Given the description of an element on the screen output the (x, y) to click on. 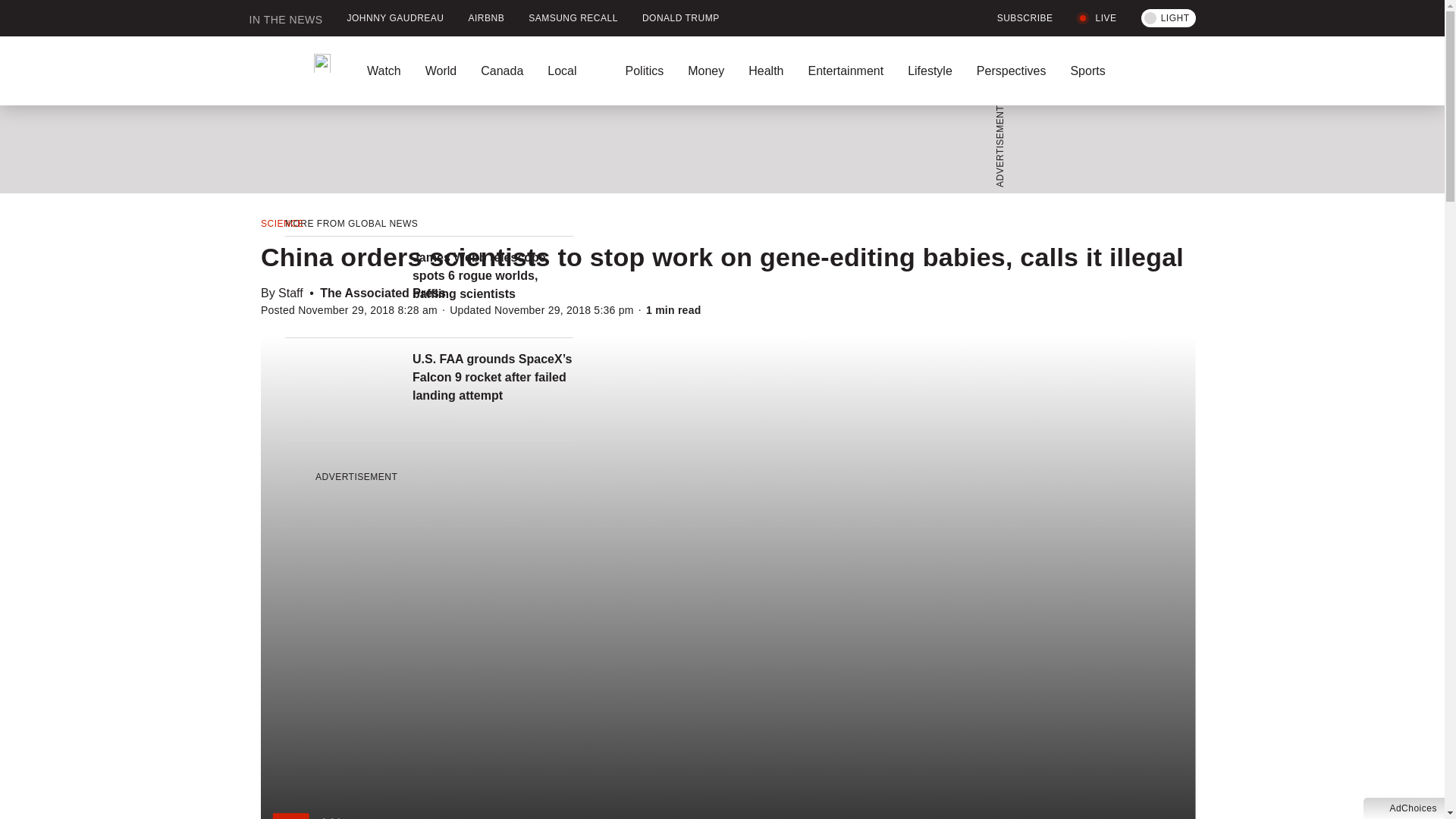
LIVE (1096, 18)
DONALD TRUMP (681, 18)
Politics (643, 70)
JOHNNY GAUDREAU (395, 18)
Perspectives (1010, 70)
Entertainment (844, 70)
SAMSUNG RECALL (573, 18)
Canada (501, 70)
GlobalNews home (289, 70)
